Given the description of an element on the screen output the (x, y) to click on. 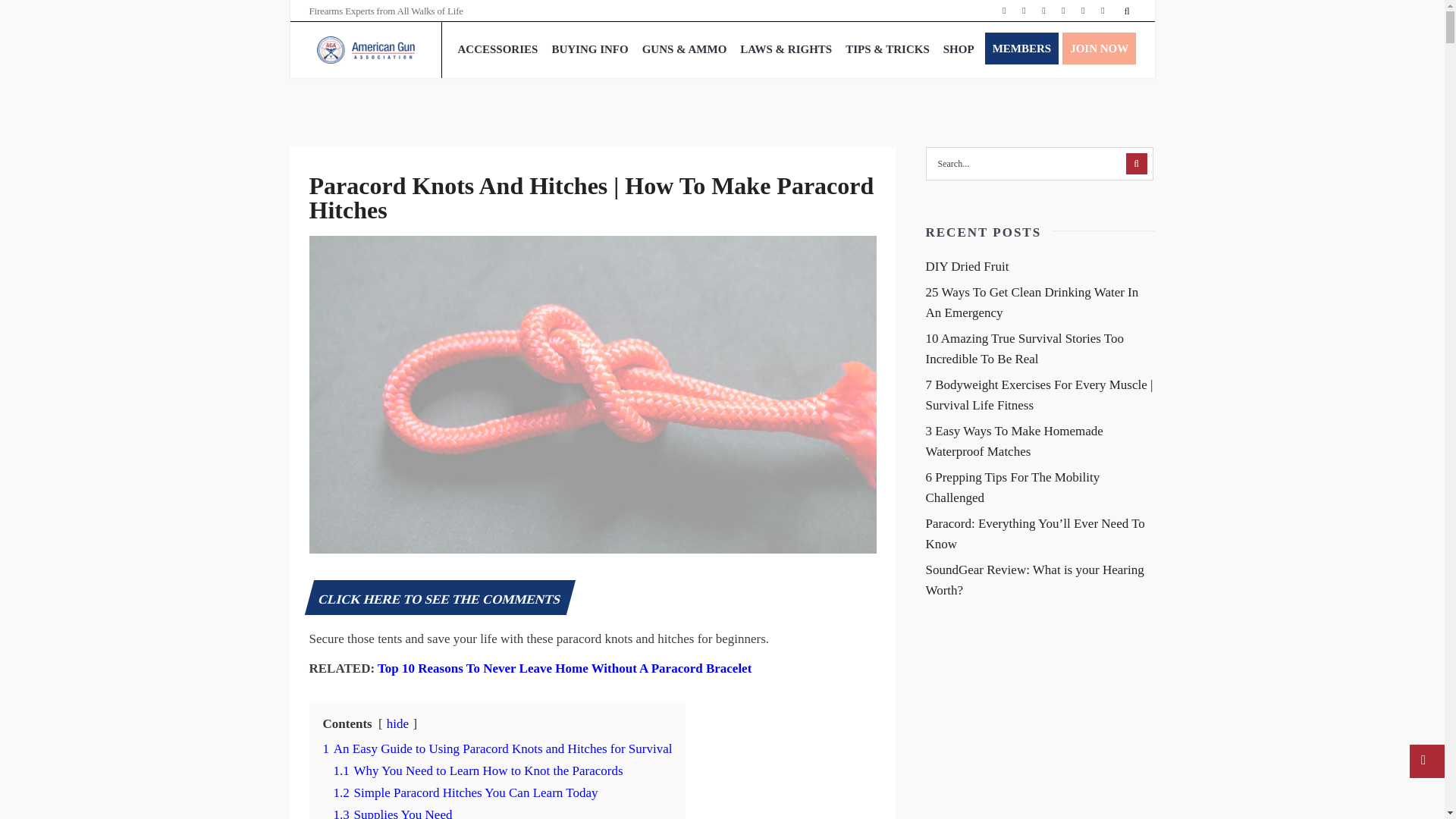
SHOP (958, 49)
Instagram (1042, 10)
Twitter (1023, 10)
MEMBERS (1022, 48)
1.1 Why You Need to Learn How to Knot the Paracords (478, 770)
Search... (1038, 163)
ACCESSORIES (496, 49)
Pinterest (1062, 10)
BUYING INFO (589, 49)
CLICK HERE TO SEE THE COMMENTS (439, 599)
Facebook (1003, 10)
You Tube (1083, 10)
1.2 Simple Paracord Hitches You Can Learn Today (465, 792)
